Given the description of an element on the screen output the (x, y) to click on. 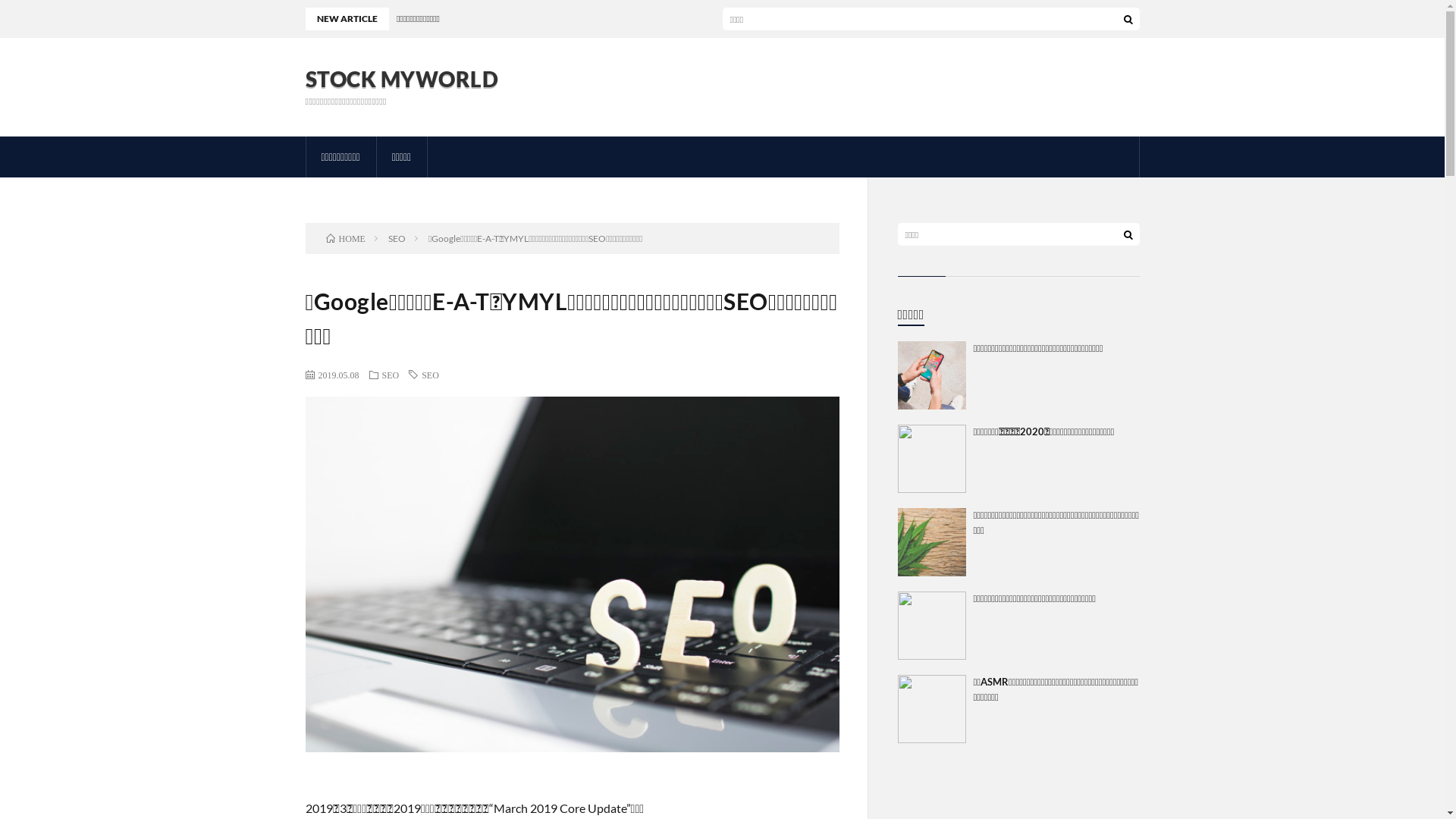
SEO Element type: text (430, 374)
HOME Element type: text (345, 238)
search Element type: text (1127, 18)
search Element type: text (1127, 233)
SEO Element type: text (390, 374)
STOCK MYWORLD Element type: text (401, 78)
SEO Element type: text (396, 238)
